Given the description of an element on the screen output the (x, y) to click on. 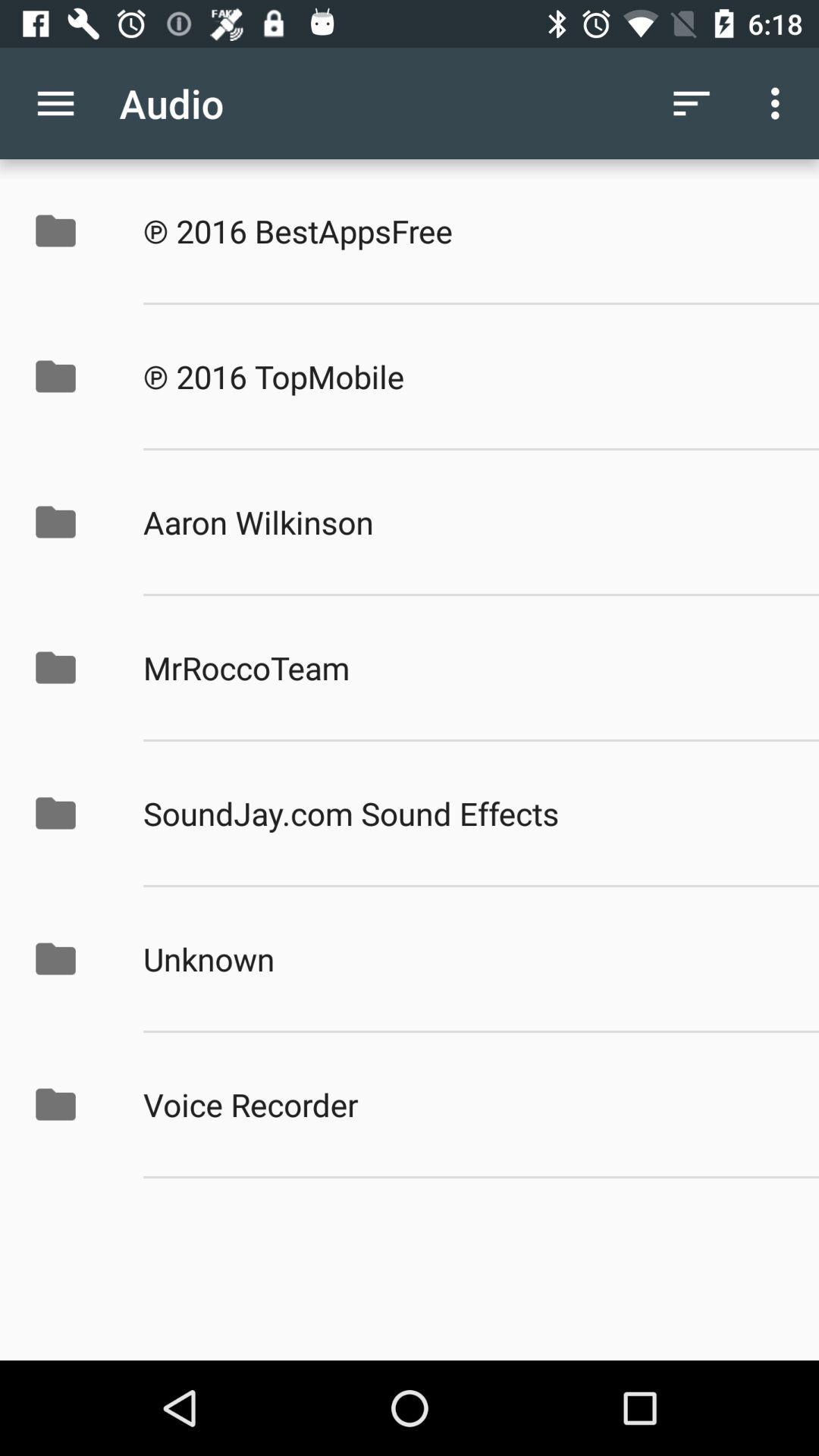
turn off icon above the mrroccoteam app (465, 521)
